Given the description of an element on the screen output the (x, y) to click on. 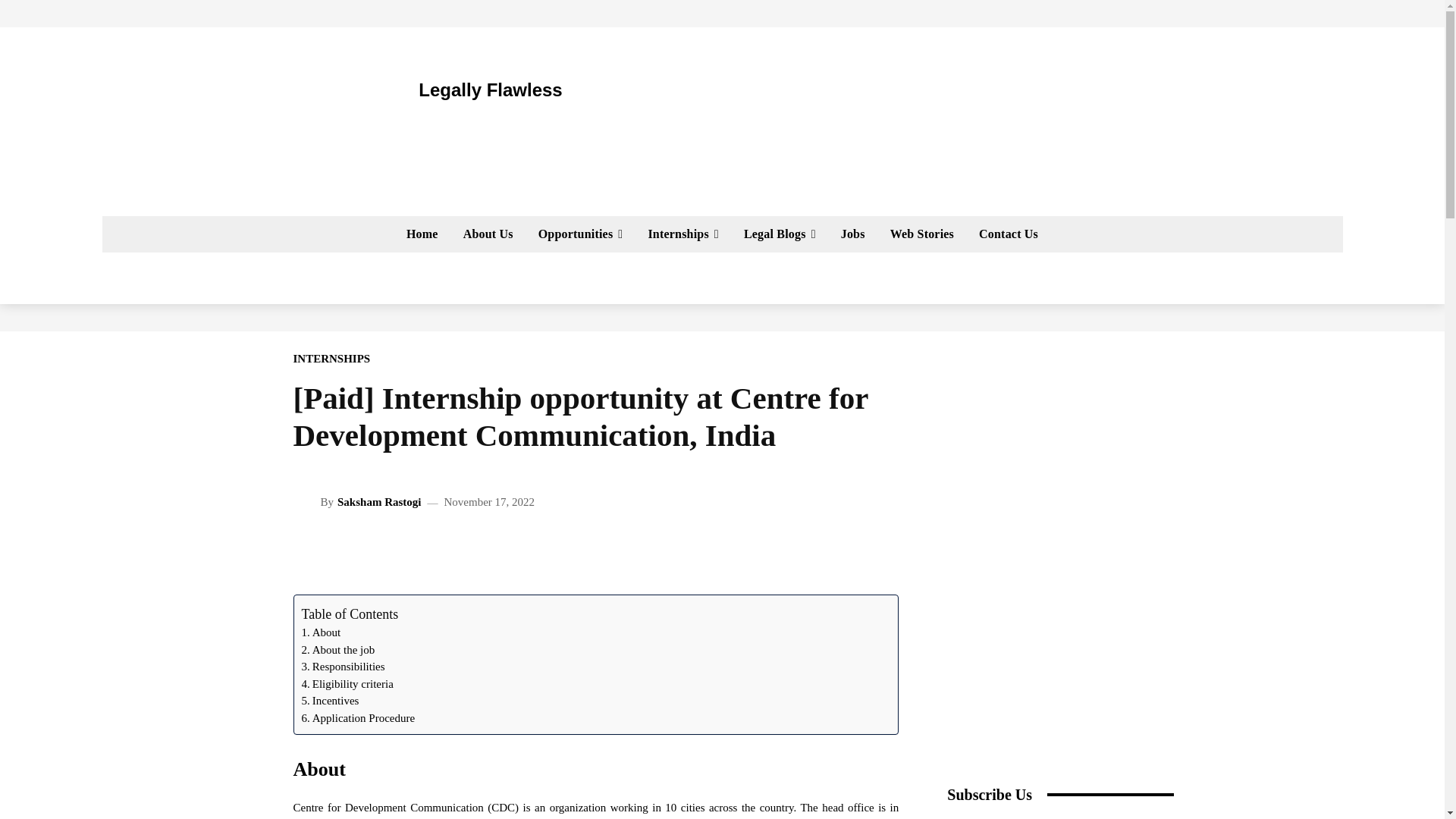
Opportunities (580, 234)
Legally Flawless (439, 89)
Home (422, 234)
Saksham Rastogi (306, 501)
About Us (488, 234)
